Given the description of an element on the screen output the (x, y) to click on. 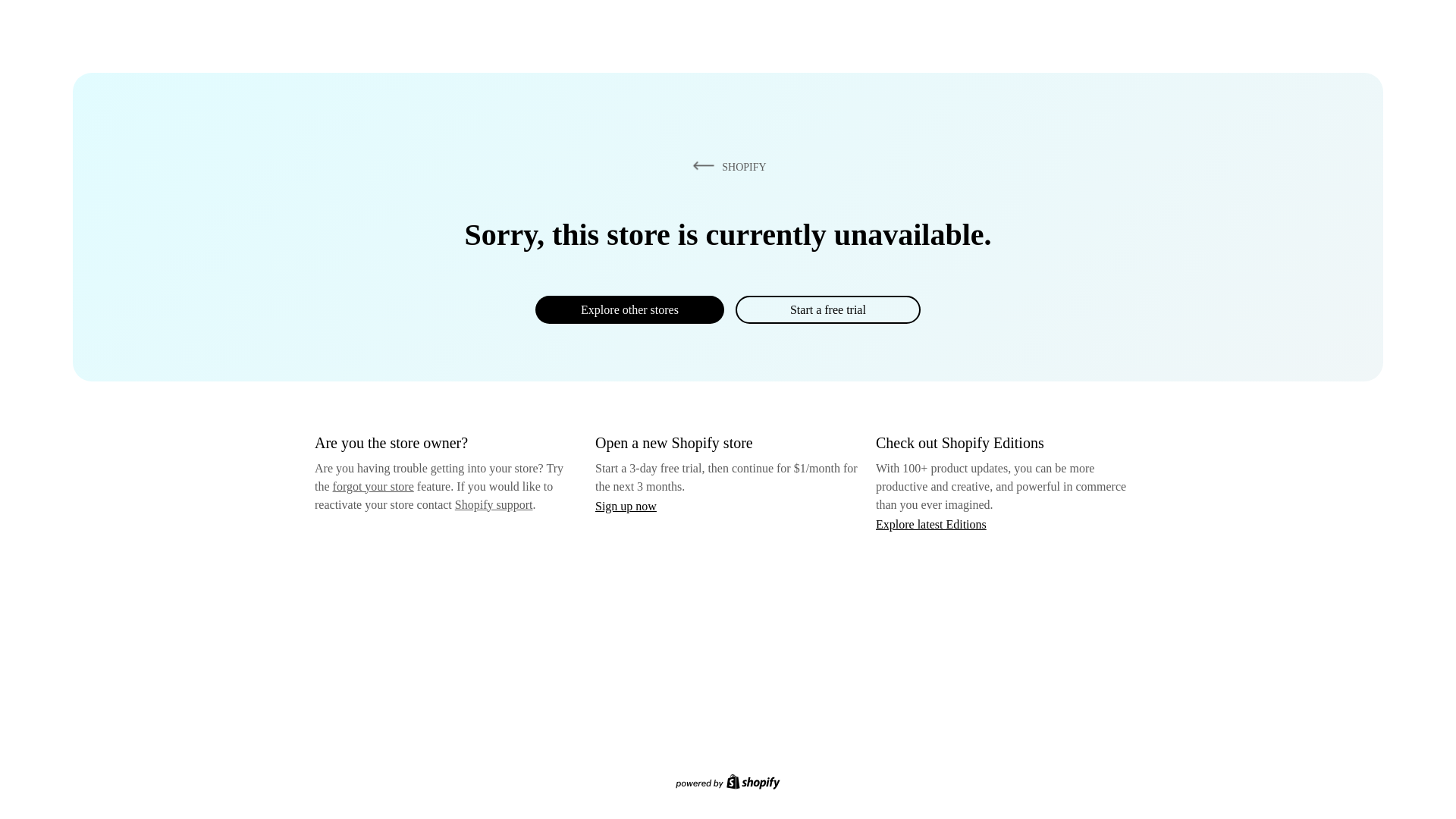
Explore other stores (629, 309)
forgot your store (373, 486)
Start a free trial (827, 309)
Explore latest Editions (931, 523)
SHOPIFY (726, 166)
Sign up now (625, 505)
Shopify support (493, 504)
